Given the description of an element on the screen output the (x, y) to click on. 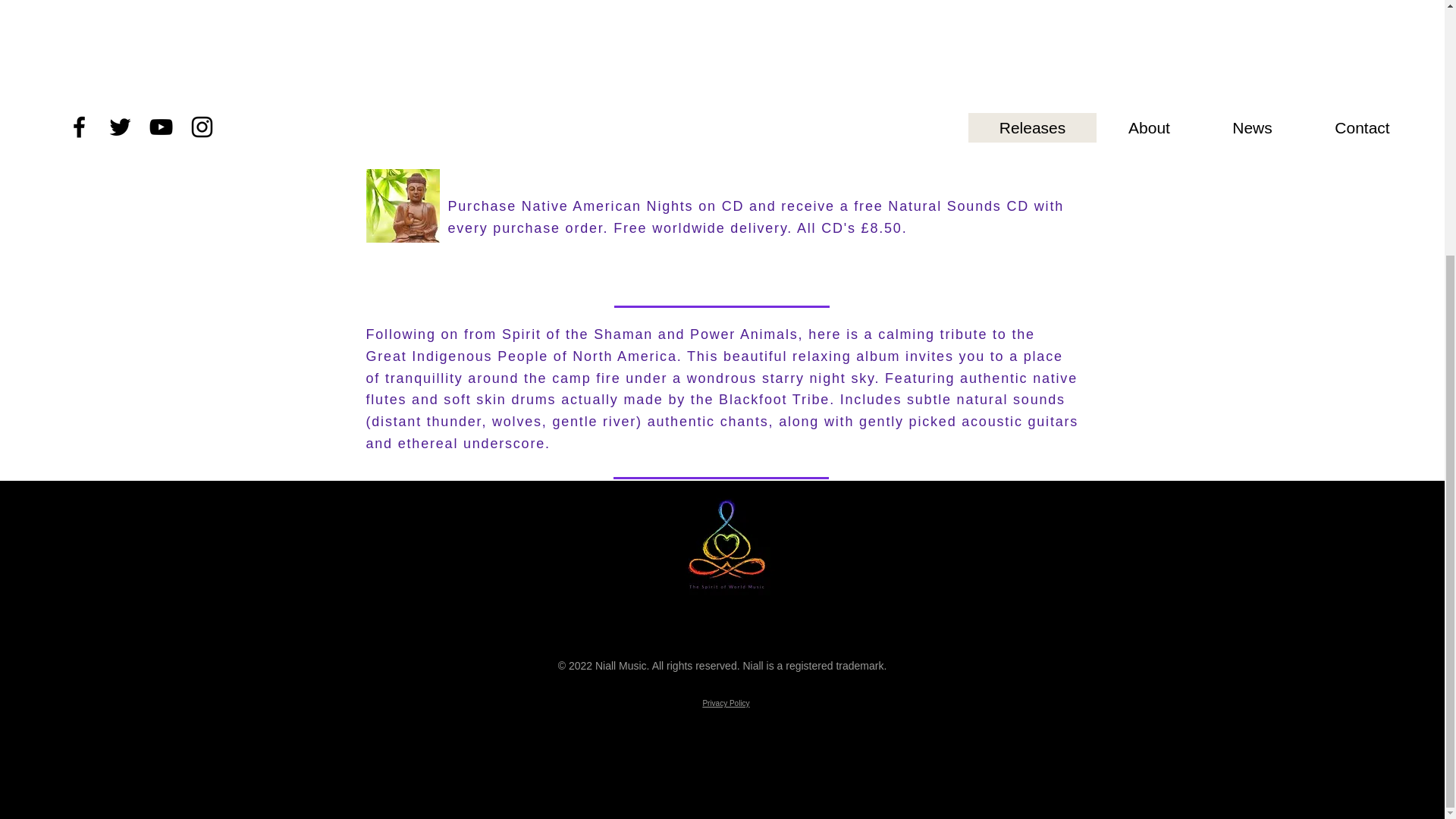
Privacy Policy (725, 703)
